Given the description of an element on the screen output the (x, y) to click on. 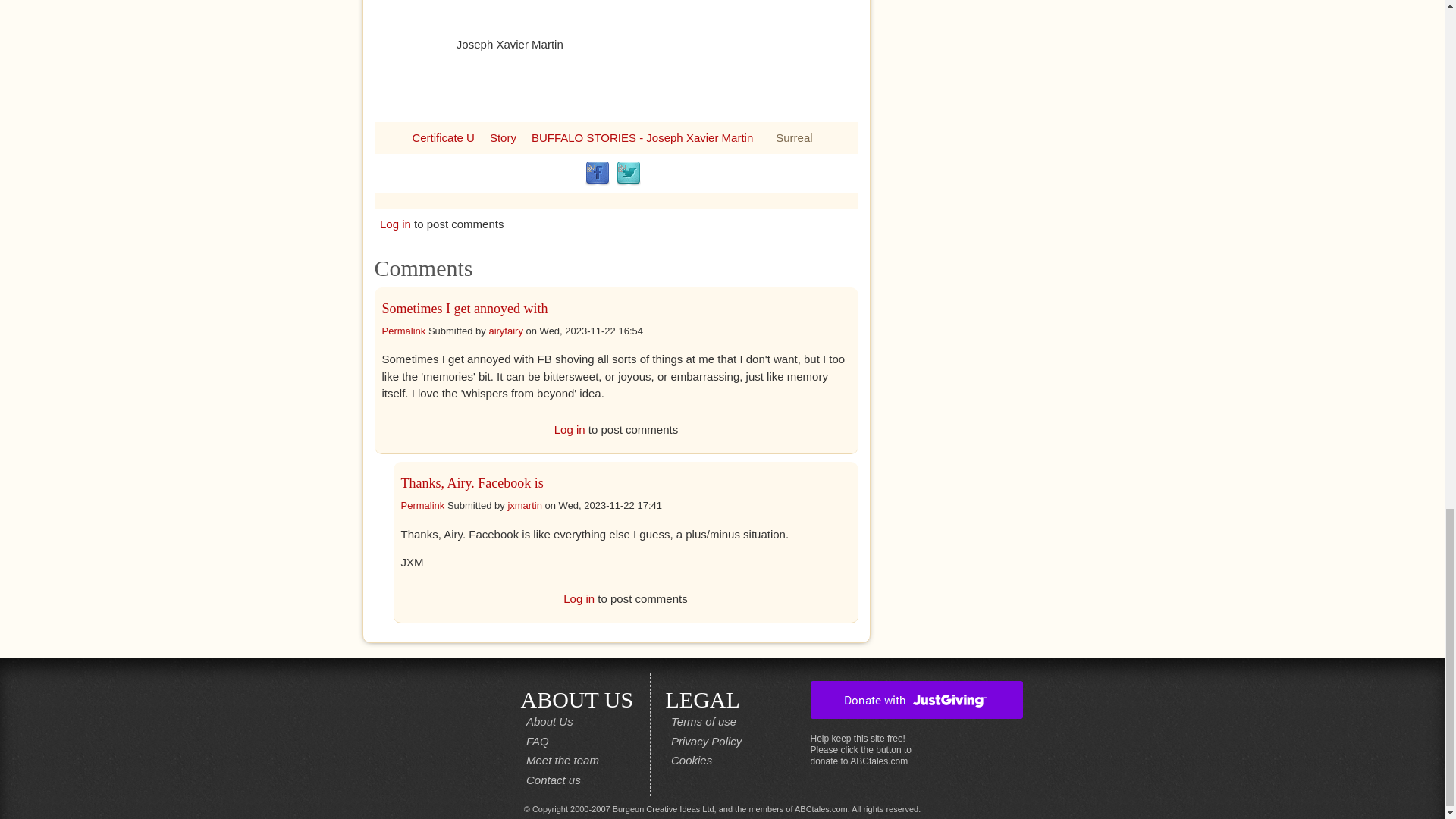
Certificate U (443, 136)
Thanks, Airy. Facebook is (471, 482)
Sometimes I get annoyed with (464, 307)
View user profile. (523, 505)
Story (502, 136)
Facebook (597, 173)
Permalink (403, 329)
airyfairy (504, 329)
Twitter (627, 173)
Log in (569, 429)
